Given the description of an element on the screen output the (x, y) to click on. 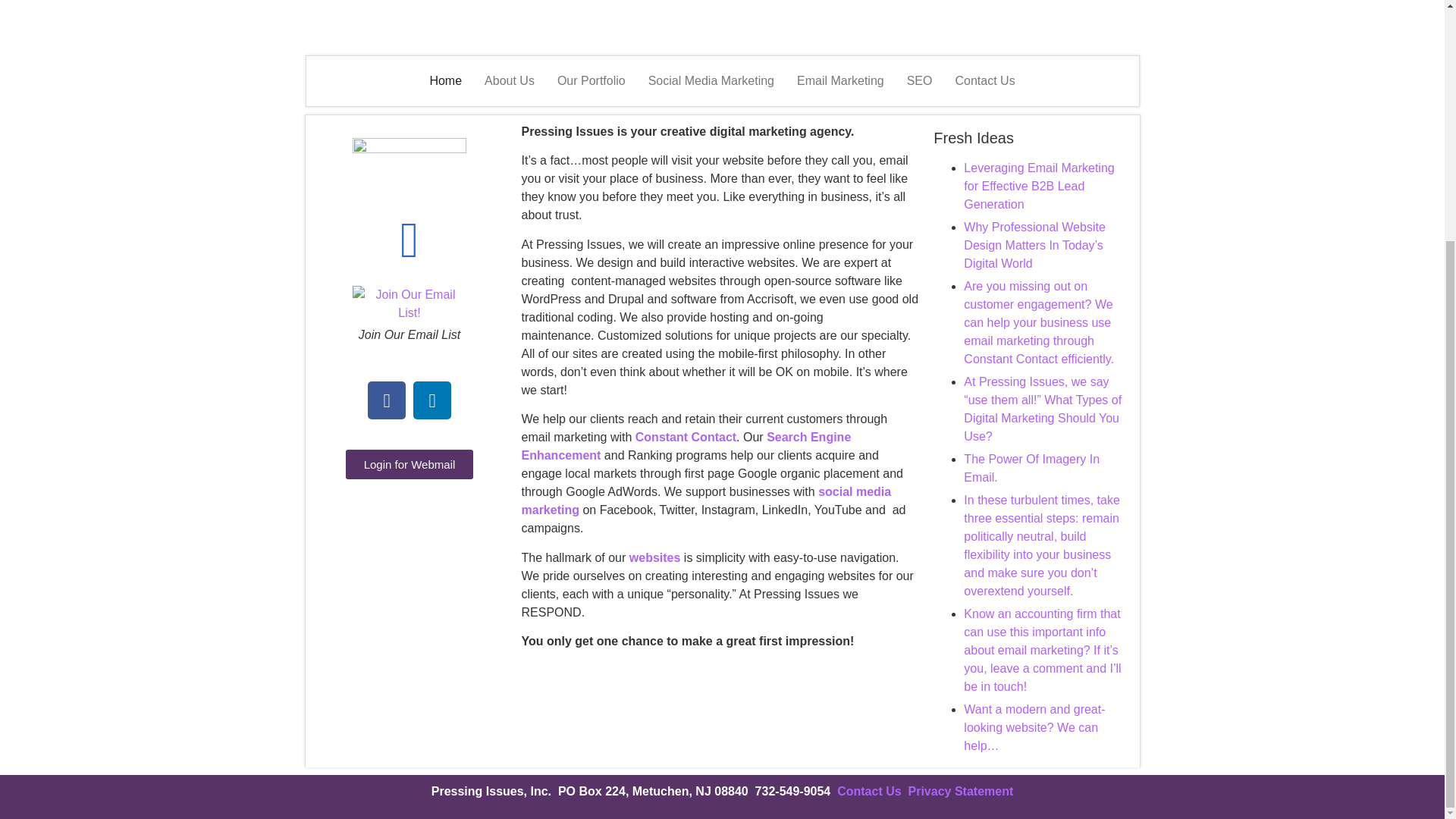
Email Marketing (840, 80)
social media marketing (706, 500)
Contact Us (984, 80)
SEO (919, 80)
Contact Us (872, 790)
Privacy Statement (960, 790)
About Us (509, 80)
Social Media Marketing (711, 80)
The Power Of Imagery In Email. (1031, 468)
